Given the description of an element on the screen output the (x, y) to click on. 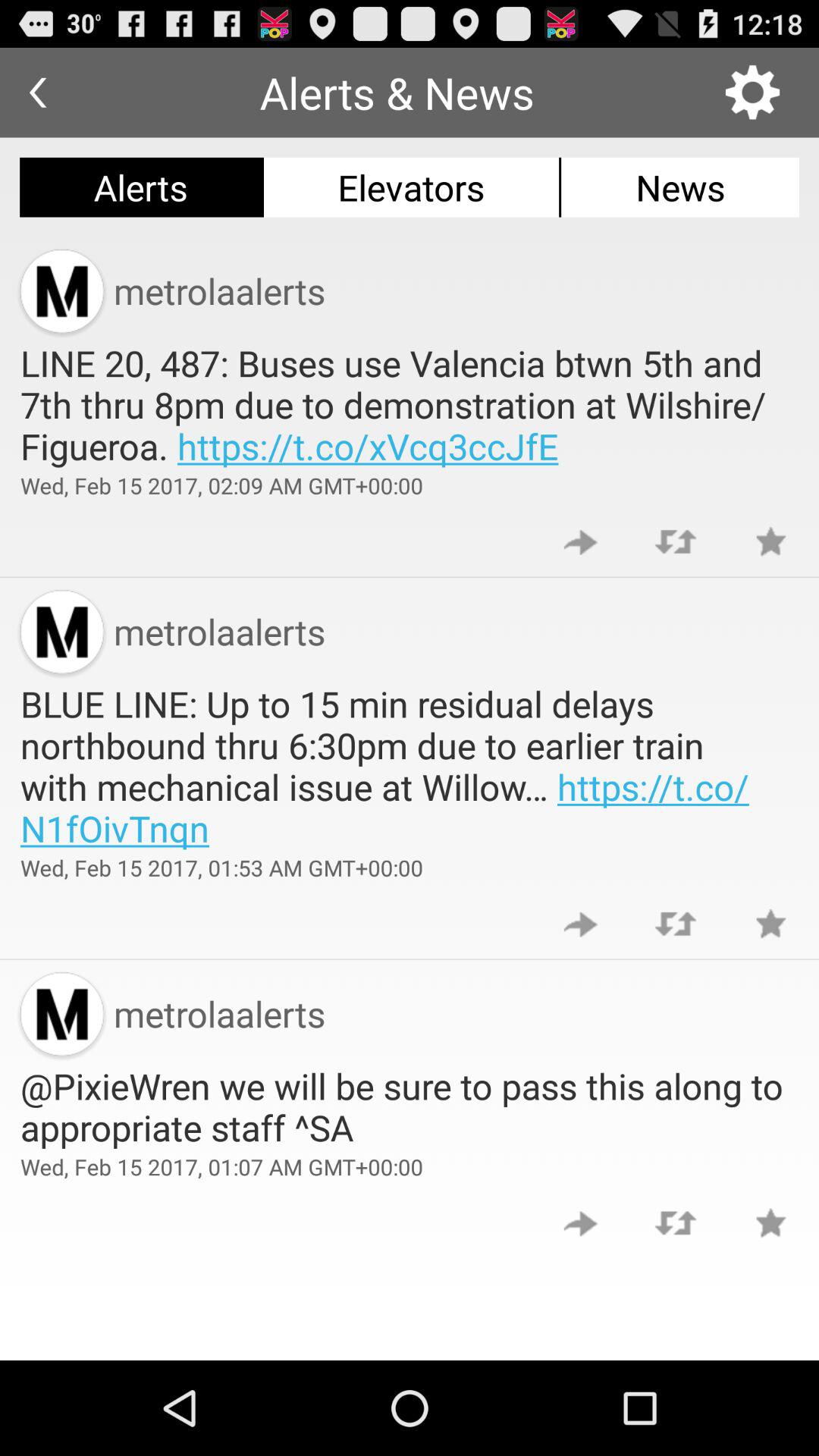
open app above the wed feb 15 item (409, 404)
